Given the description of an element on the screen output the (x, y) to click on. 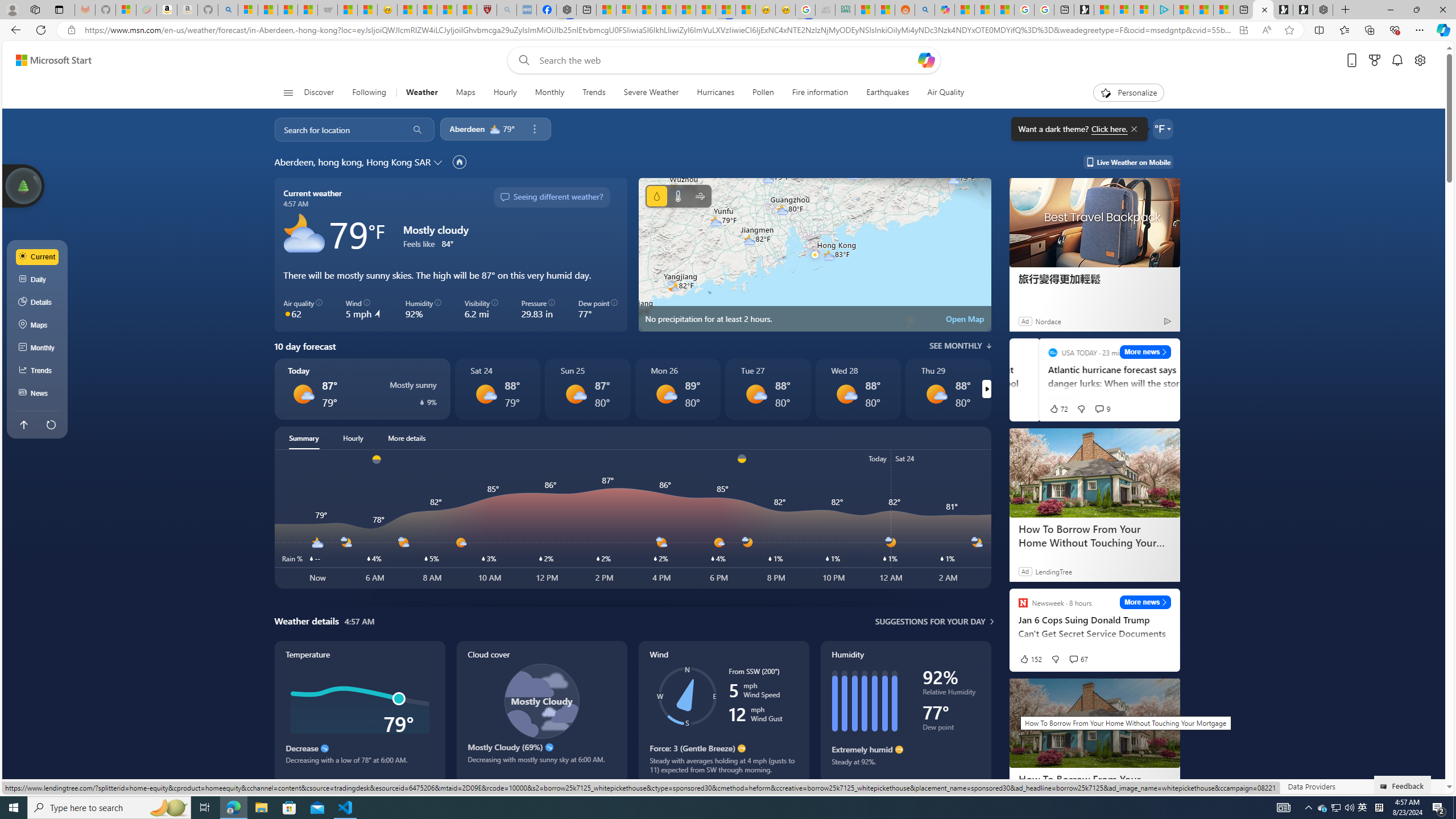
Summary (303, 437)
Fire information (820, 92)
Hurricanes (716, 92)
Hourly (504, 92)
